Given the description of an element on the screen output the (x, y) to click on. 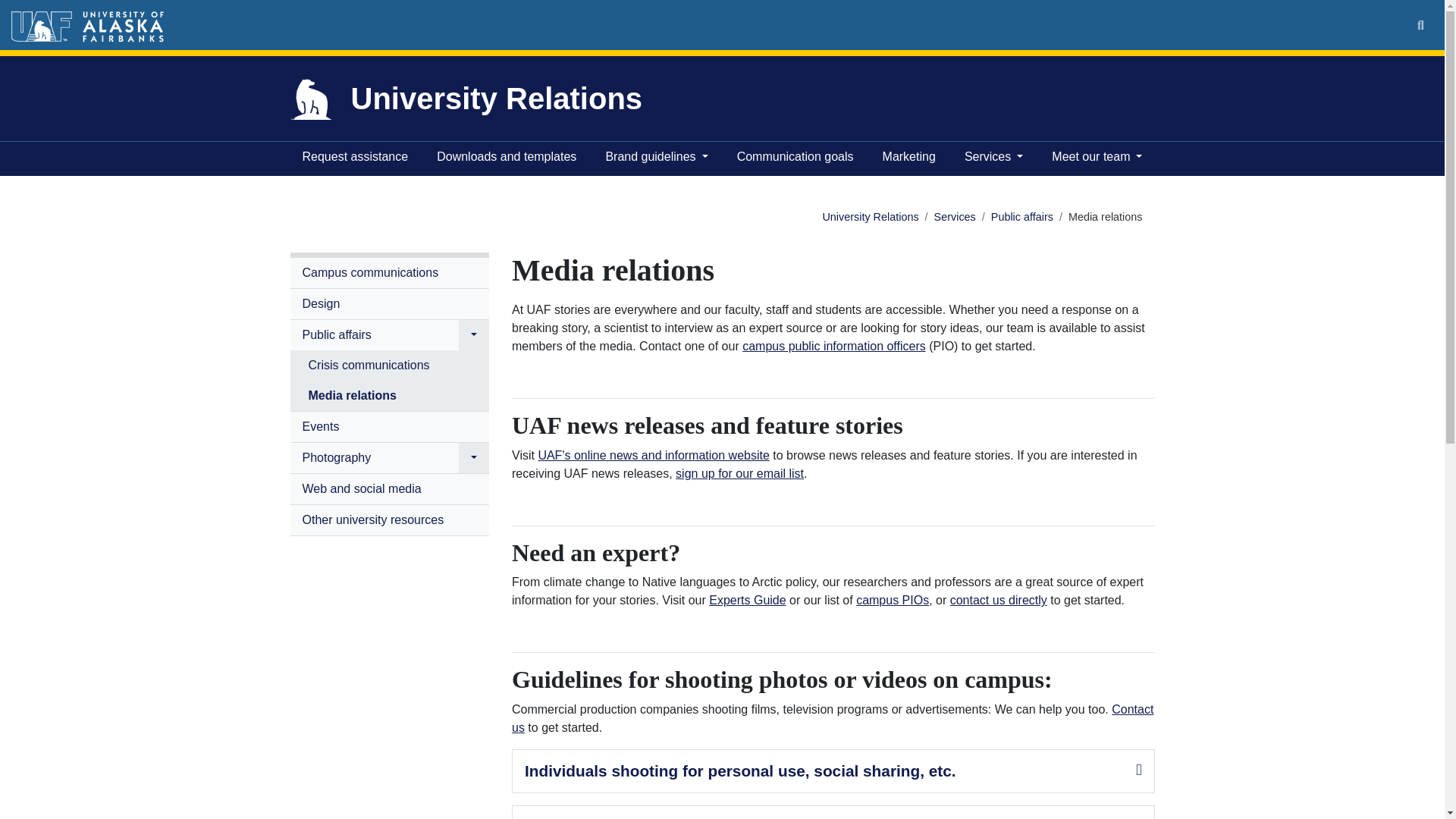
Brand guidelines (655, 158)
University Relations (496, 98)
Request assistance (354, 158)
Communication goals (795, 158)
Downloads and templates (506, 158)
Individuals shooting for personal use, social sharing, etc. (740, 770)
Marketing (909, 158)
University Relations (870, 216)
Meet our team (1096, 158)
Services (993, 158)
